Given the description of an element on the screen output the (x, y) to click on. 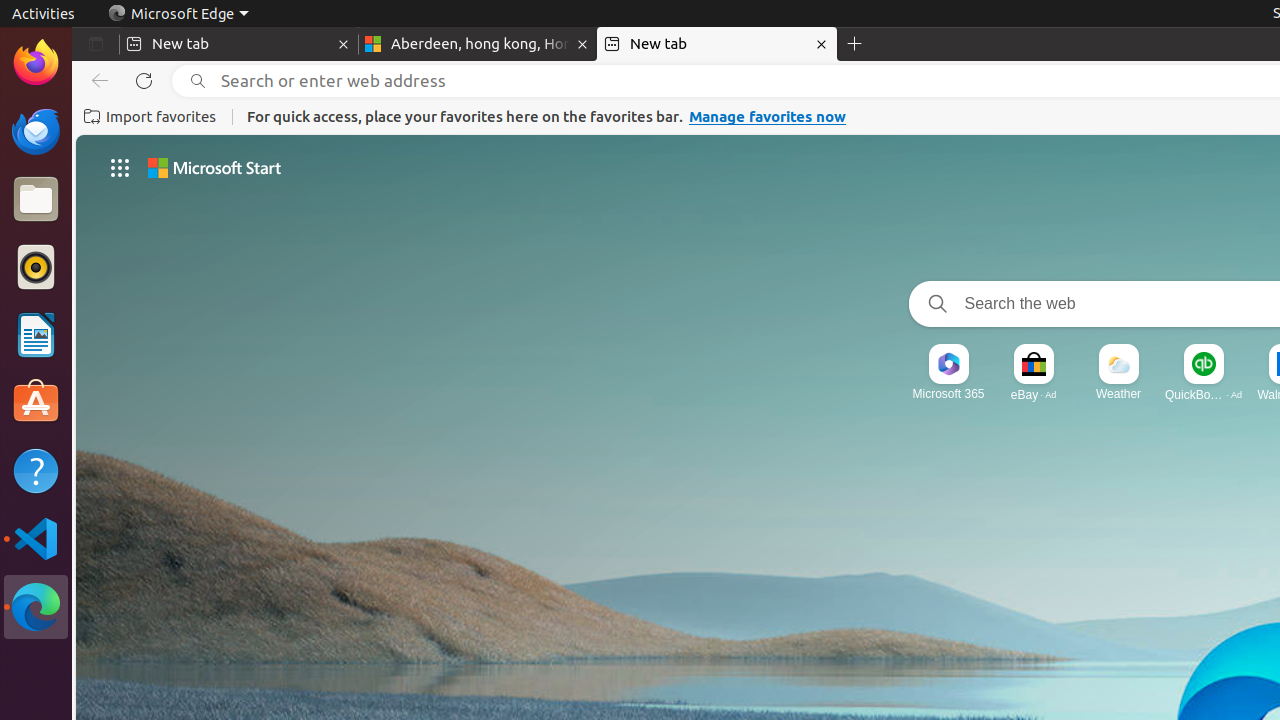
Microsoft Edge Element type: menu (178, 13)
Rhythmbox Element type: push-button (36, 267)
Microsoft Edge Element type: push-button (36, 607)
eBay · Ad Element type: link (1033, 393)
Tab actions menu Element type: push-button (96, 44)
